Given the description of an element on the screen output the (x, y) to click on. 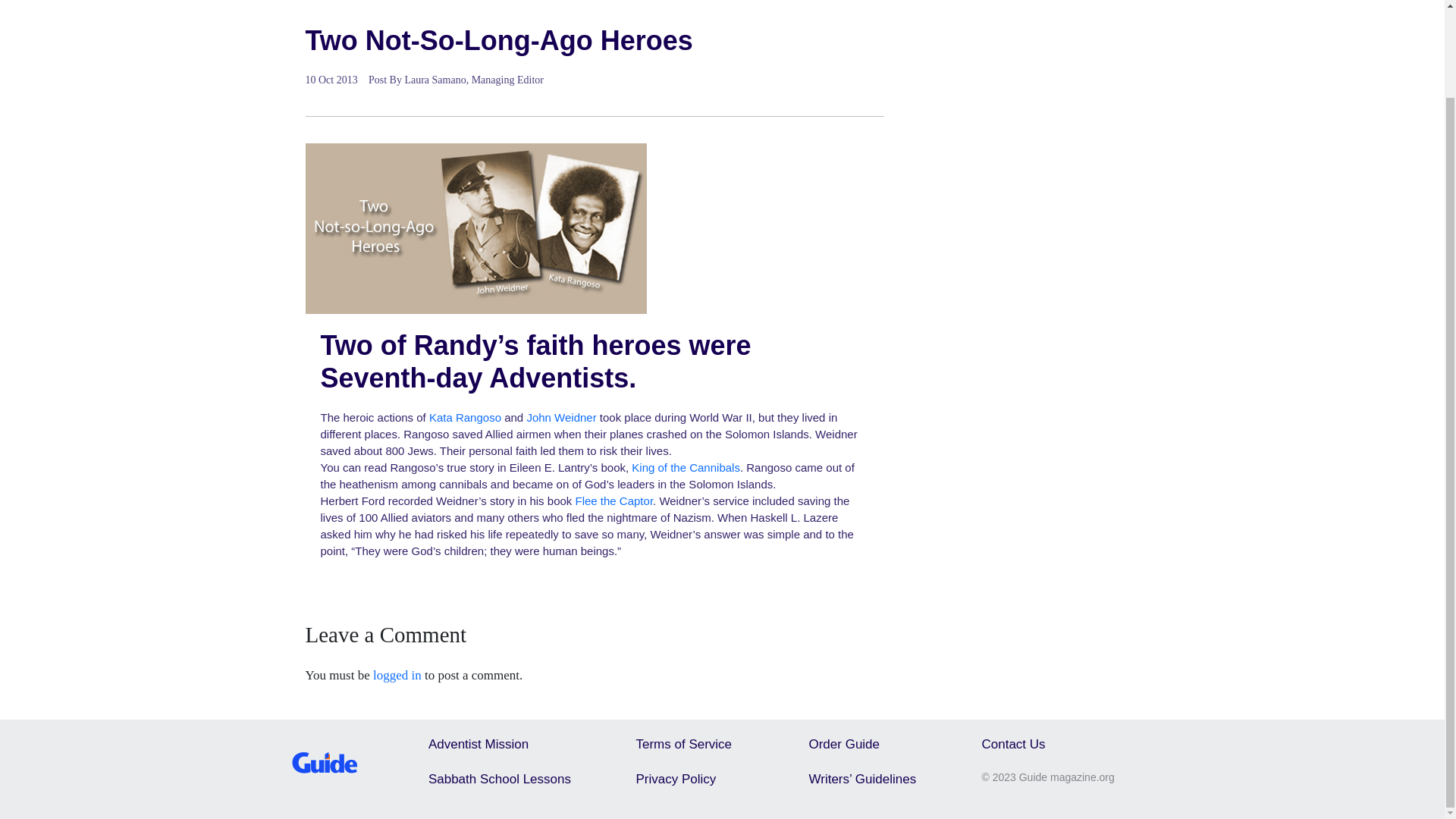
Flee the Captor (613, 500)
King of the Cannibals (685, 467)
Kata Rangoso (464, 417)
logged in (397, 675)
John Weidner (560, 417)
